Given the description of an element on the screen output the (x, y) to click on. 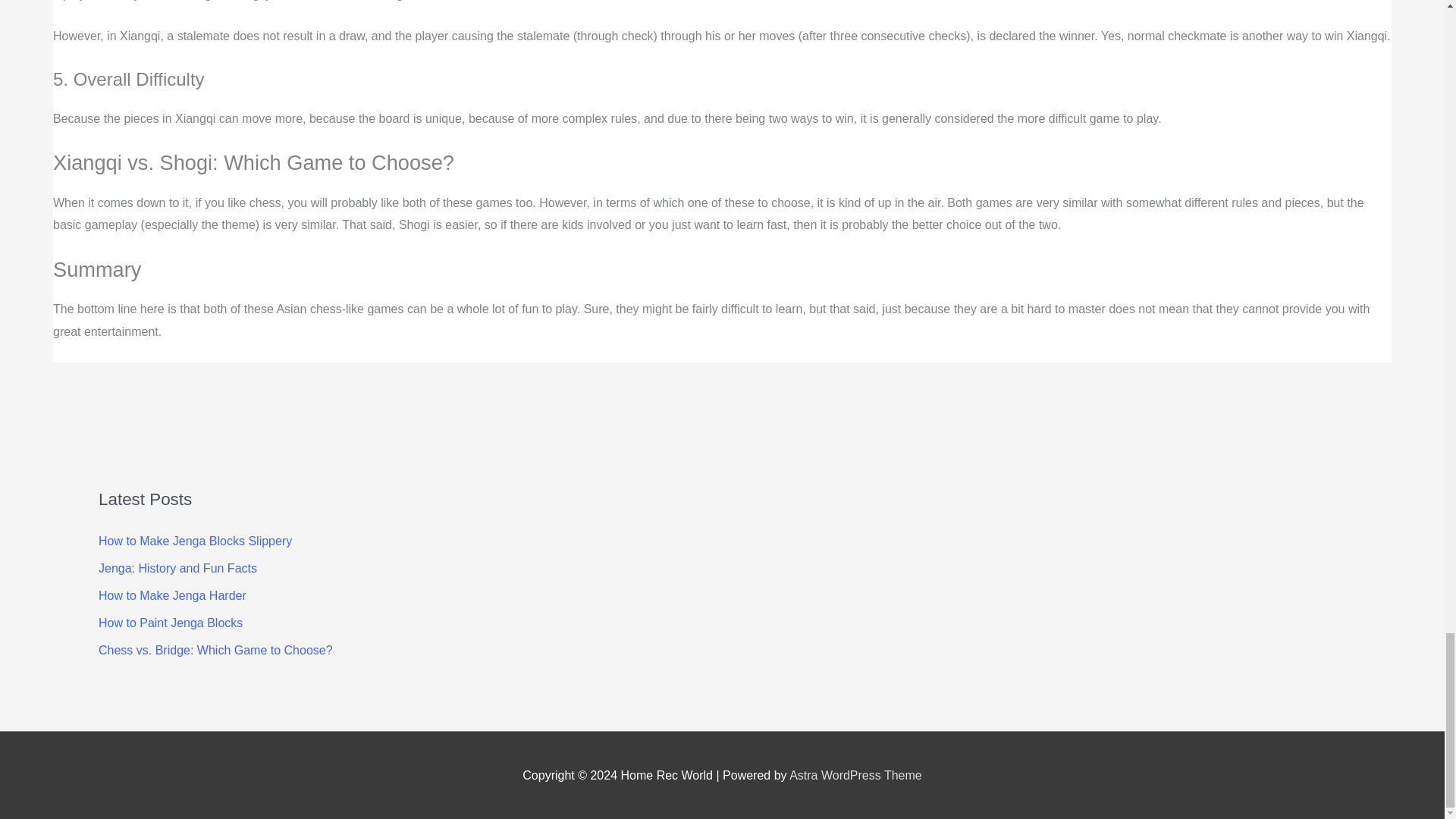
Astra WordPress Theme (855, 775)
How to Paint Jenga Blocks (171, 622)
How to Make Jenga Blocks Slippery (195, 540)
How to Make Jenga Harder (172, 594)
Jenga: History and Fun Facts (178, 567)
Chess vs. Bridge: Which Game to Choose? (216, 649)
